Given the description of an element on the screen output the (x, y) to click on. 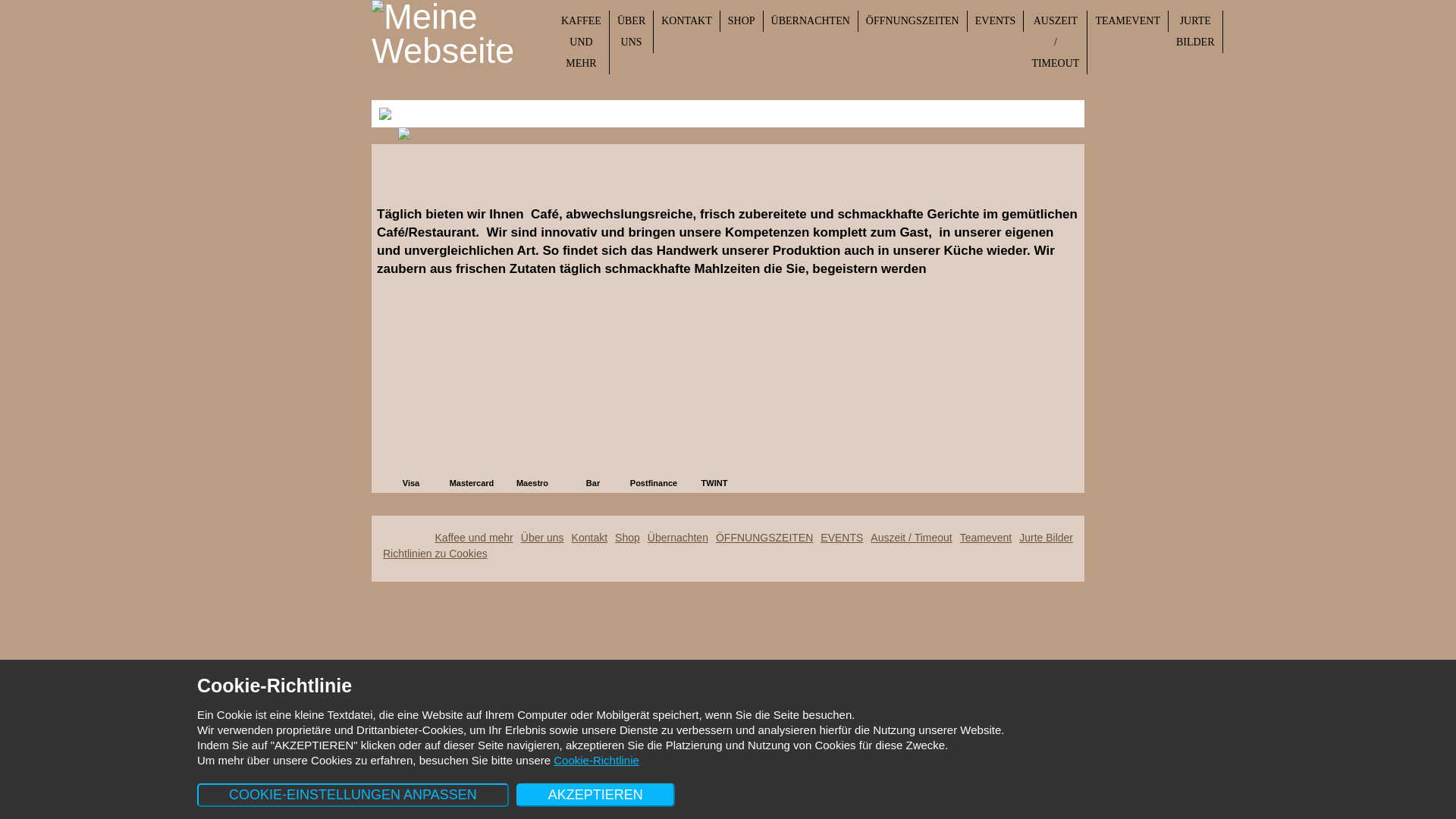
Auszeit / Timeout Element type: text (910, 537)
AUSZEIT / TIMEOUT Element type: text (1055, 42)
AKZEPTIEREN Element type: text (595, 794)
TEAMEVENT Element type: text (1127, 20)
Kaffee und mehr Element type: text (474, 537)
KONTAKT Element type: text (686, 20)
EVENTS Element type: text (841, 537)
COOKIE-EINSTELLUNGEN ANPASSEN Element type: text (352, 794)
Cookie-Richtlinie Element type: text (596, 759)
Teamevent Element type: text (985, 537)
KAFFEE UND MEHR Element type: text (581, 42)
JURTE BILDER Element type: text (1195, 31)
EVENTS Element type: text (995, 20)
Jurte Bilder Element type: text (1046, 537)
Kontakt Element type: text (589, 537)
Shop Element type: text (627, 537)
Richtlinien zu Cookies Element type: text (434, 553)
SHOP Element type: text (741, 20)
